Given the description of an element on the screen output the (x, y) to click on. 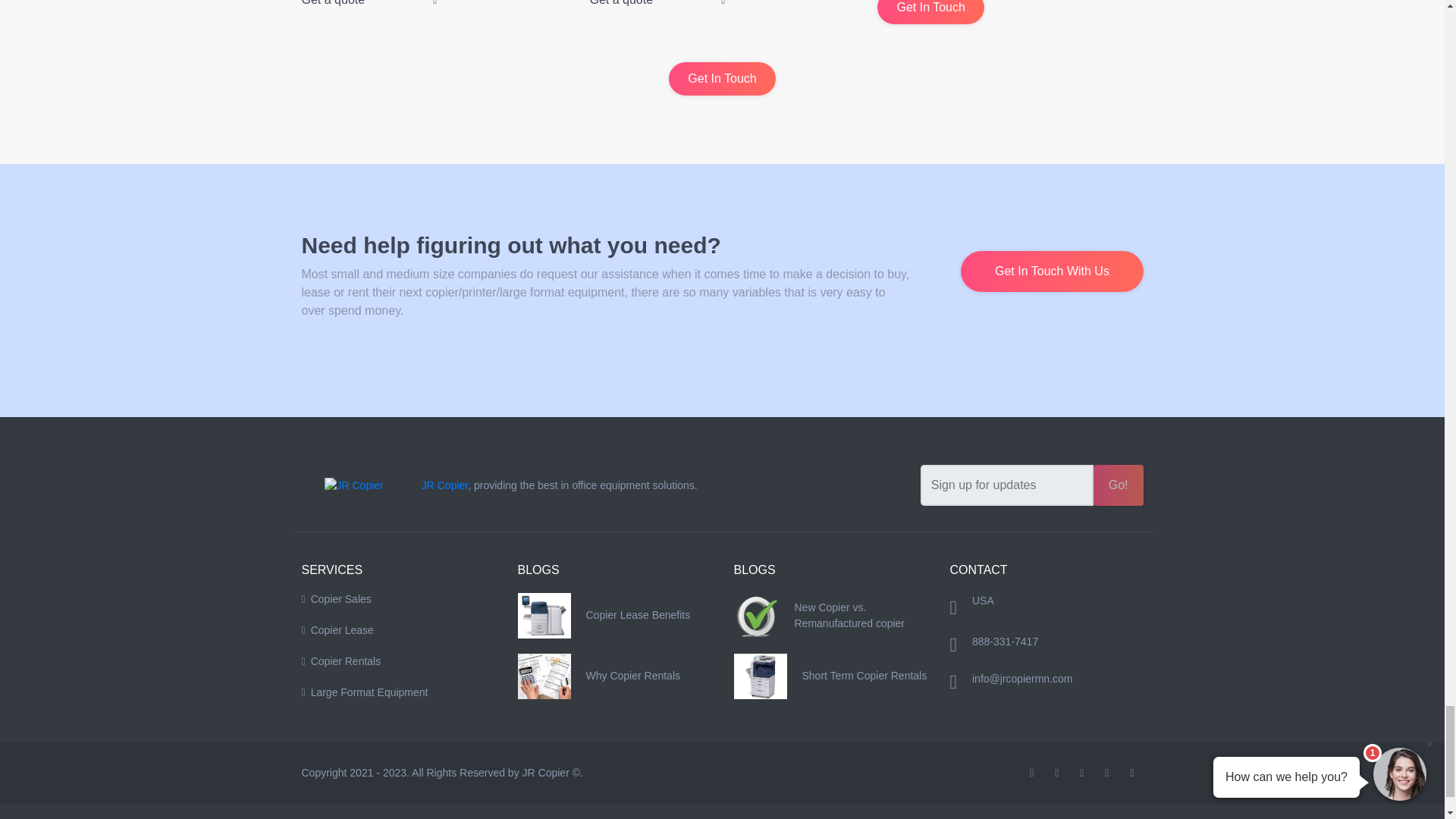
Get In Touch With Us (1051, 270)
Get In Touch (930, 12)
Get a quote                  (657, 2)
Get a quote                  (369, 2)
Go! (1117, 485)
Get In Touch (721, 78)
JR Copier (444, 485)
Copier Sales (398, 599)
